Given the description of an element on the screen output the (x, y) to click on. 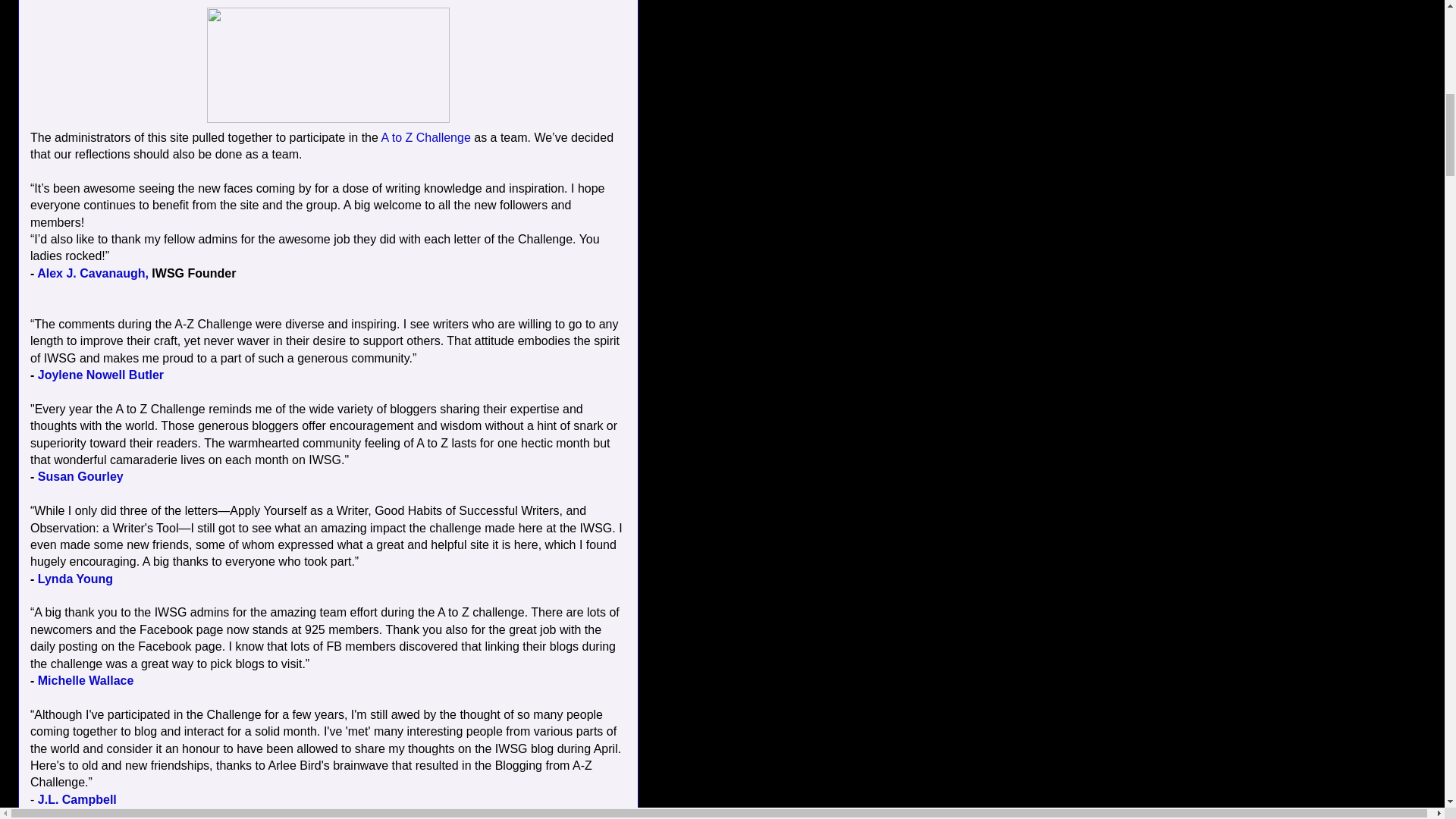
Alex J. Cavanaugh, (92, 273)
Lynda Young (75, 578)
A to Z Challenge (425, 137)
Joylene Nowell Butler (100, 374)
J.L. Campbell (76, 799)
Susan Gourley (80, 476)
Michelle Wallace (85, 680)
